Given the description of an element on the screen output the (x, y) to click on. 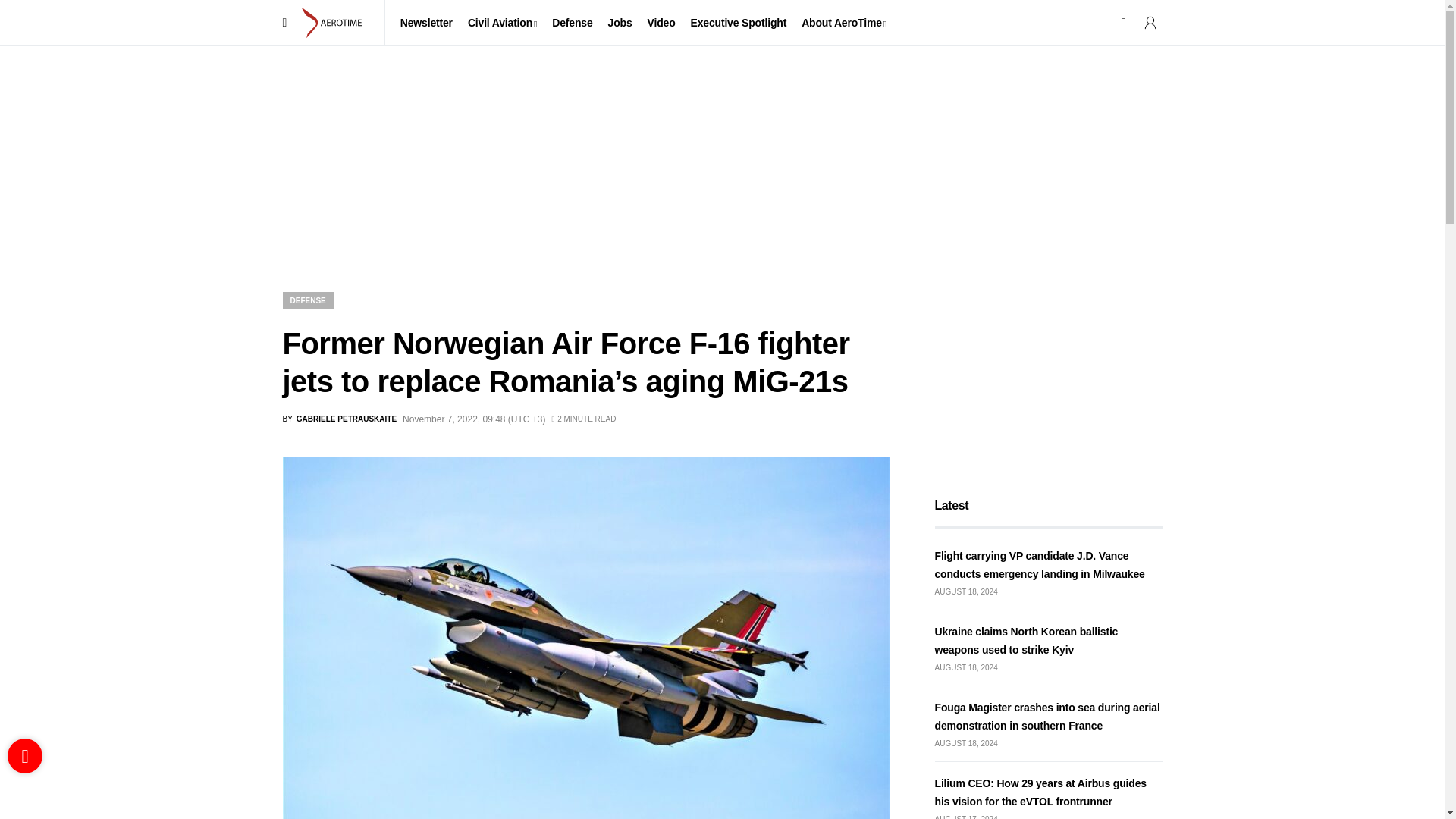
View all posts by Gabriele Petrauskaite (339, 419)
Civil Aviation (502, 22)
Newsletter (426, 22)
